Given the description of an element on the screen output the (x, y) to click on. 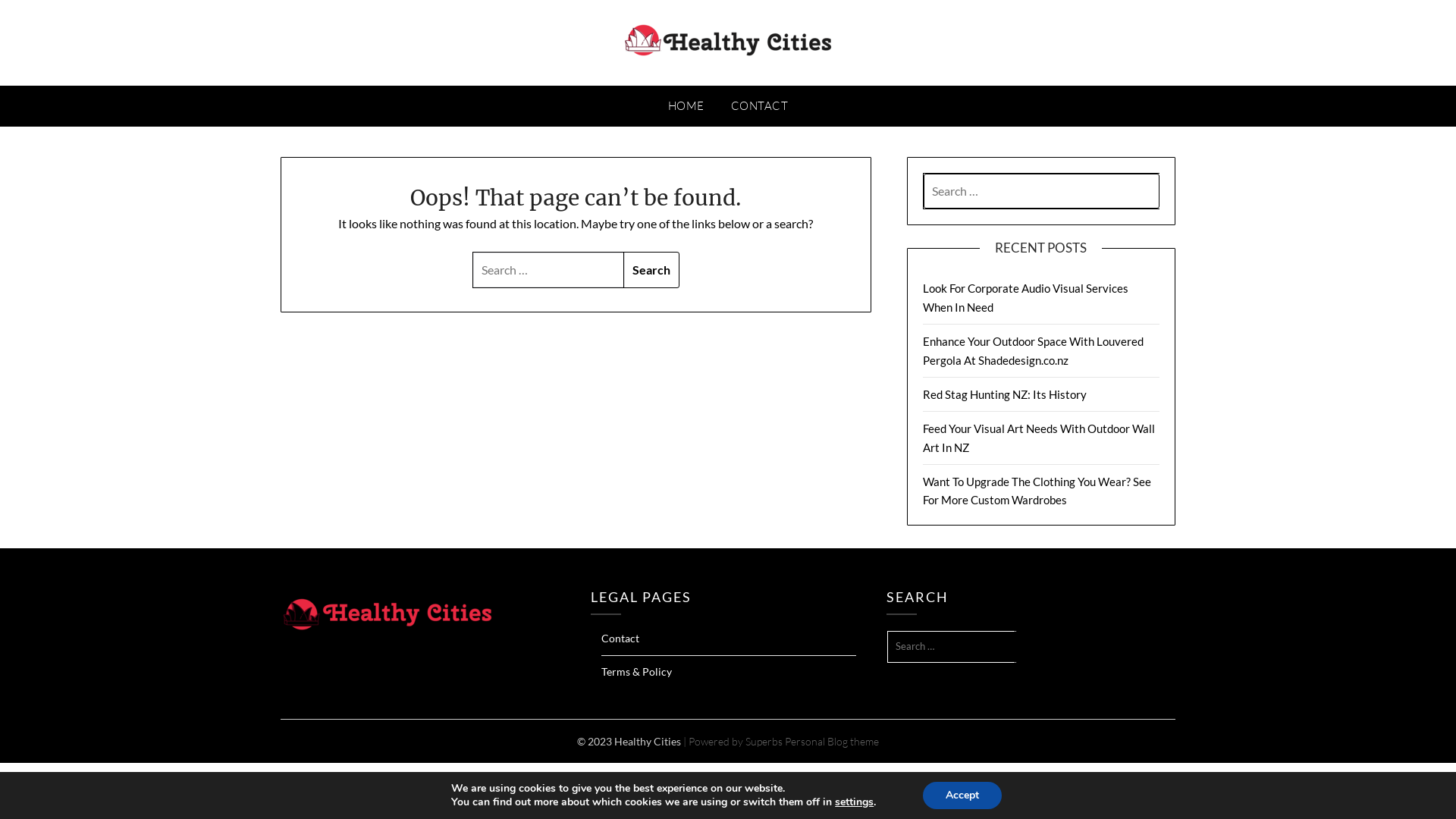
Personal Blog theme Element type: text (831, 740)
Search Element type: text (28, 18)
settings Element type: text (853, 802)
Search Element type: text (651, 269)
Red Stag Hunting NZ: Its History Element type: text (1004, 394)
CONTACT Element type: text (759, 105)
Accept Element type: text (961, 795)
Search Element type: text (1038, 646)
Feed Your Visual Art Needs With Outdoor Wall Art In NZ Element type: text (1038, 437)
Terms & Policy Element type: text (636, 671)
Look For Corporate Audio Visual Services When In Need Element type: text (1025, 297)
Contact Element type: text (620, 637)
HOME Element type: text (685, 105)
